Given the description of an element on the screen output the (x, y) to click on. 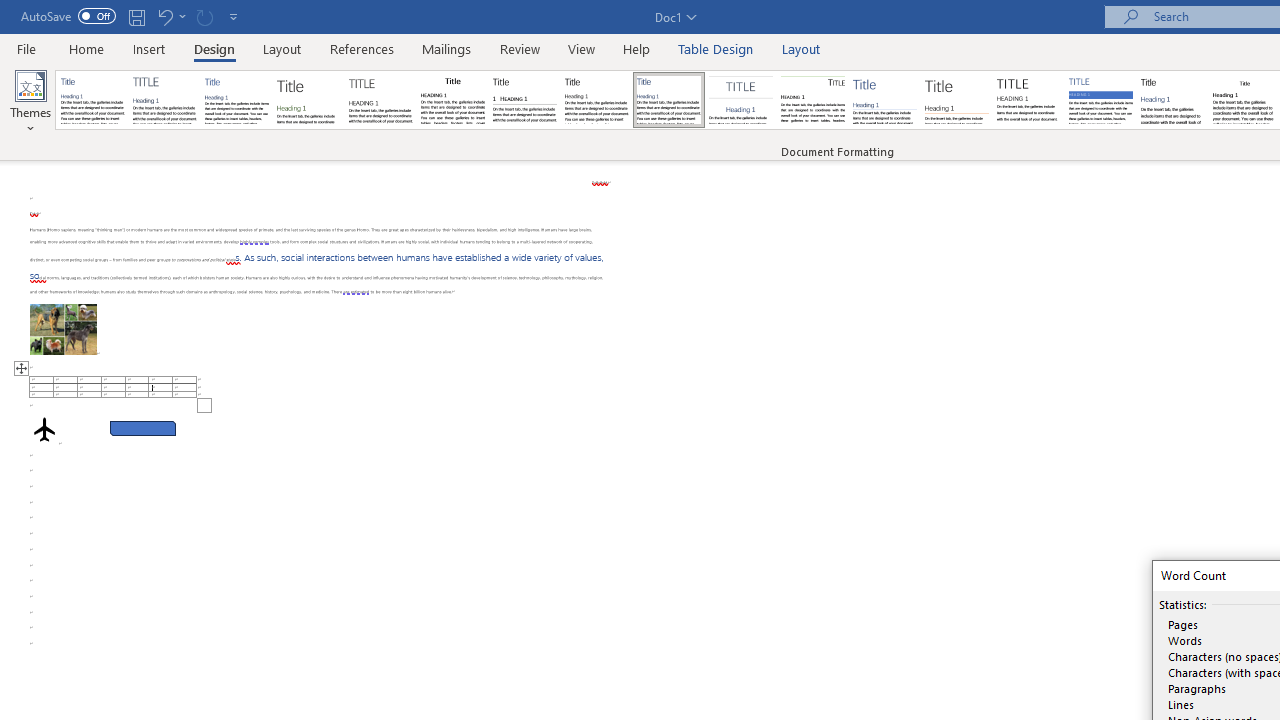
Table Design (715, 48)
More Options (182, 15)
Basic (Simple) (236, 100)
Customize Quick Access Toolbar (234, 15)
Minimalist (1028, 100)
Document (93, 100)
Morphological variation in six dogs (63, 328)
Insert (149, 48)
Lines (Stylish) (957, 100)
Design (214, 48)
View (582, 48)
Lines (Distinctive) (812, 100)
Can't Repeat (204, 15)
Black & White (Capitalized) (381, 100)
Home (86, 48)
